Given the description of an element on the screen output the (x, y) to click on. 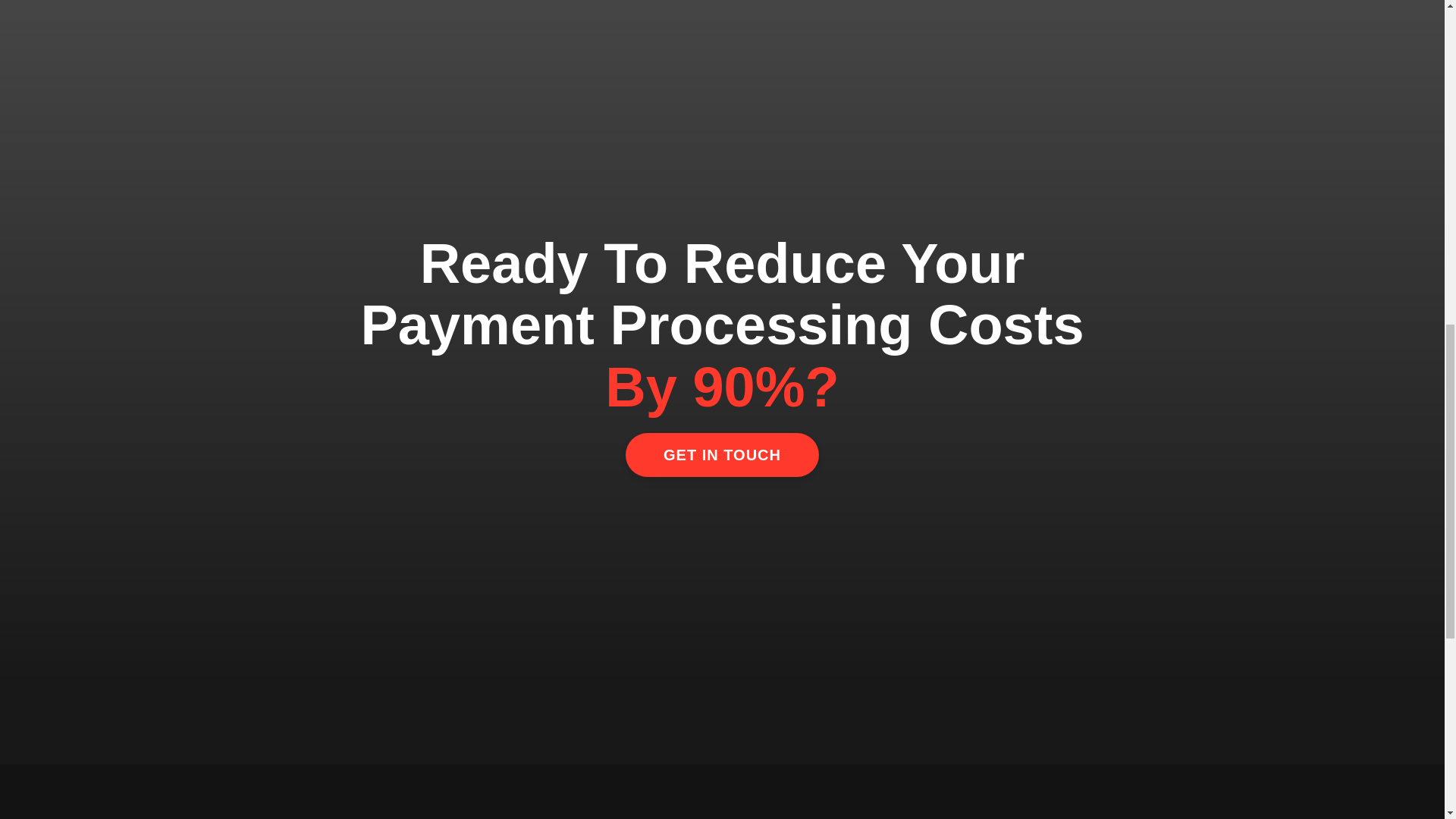
GET IN TOUCH (722, 454)
